Given the description of an element on the screen output the (x, y) to click on. 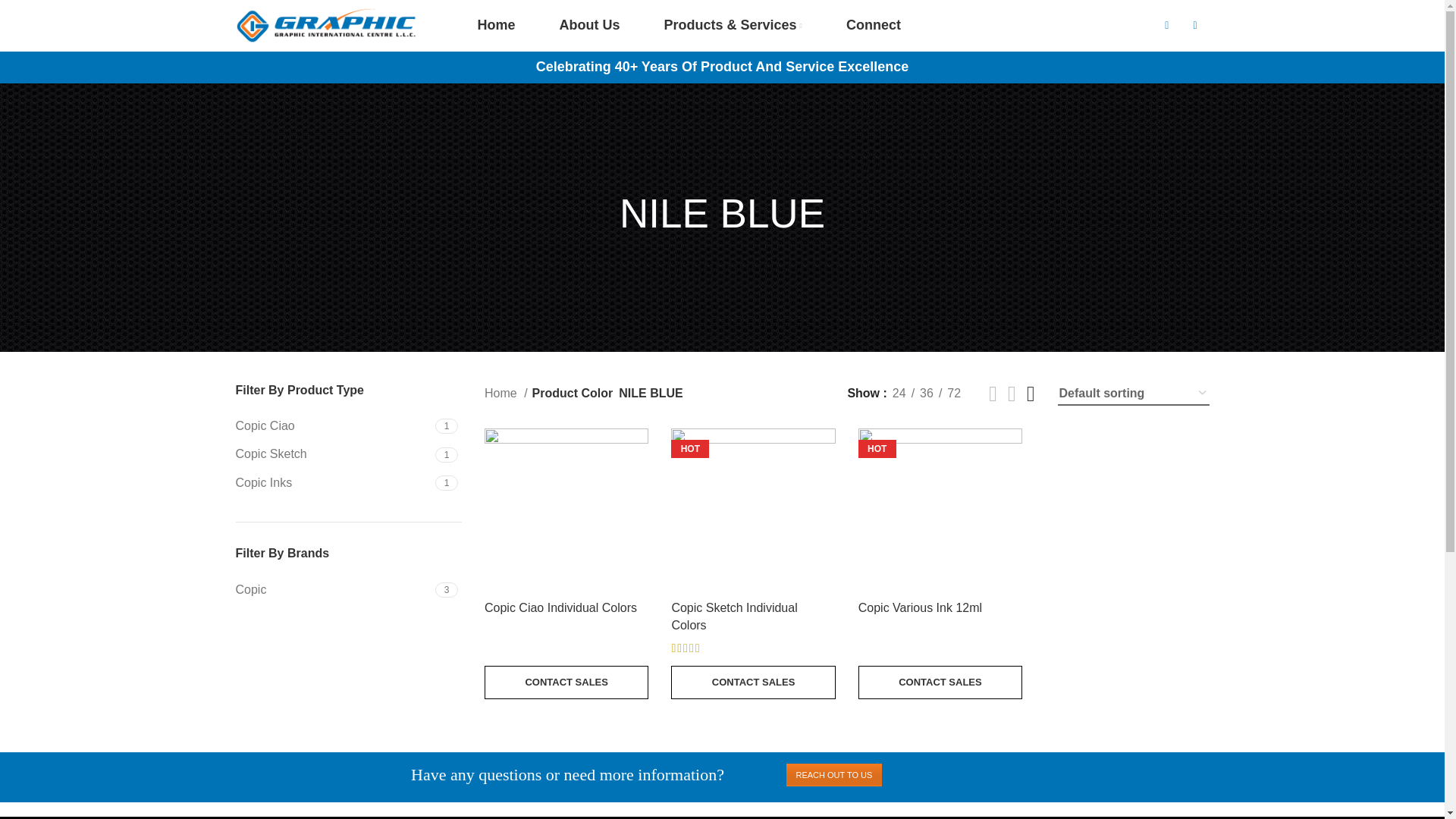
Connect (347, 592)
About Us (347, 592)
Home (347, 456)
